Given the description of an element on the screen output the (x, y) to click on. 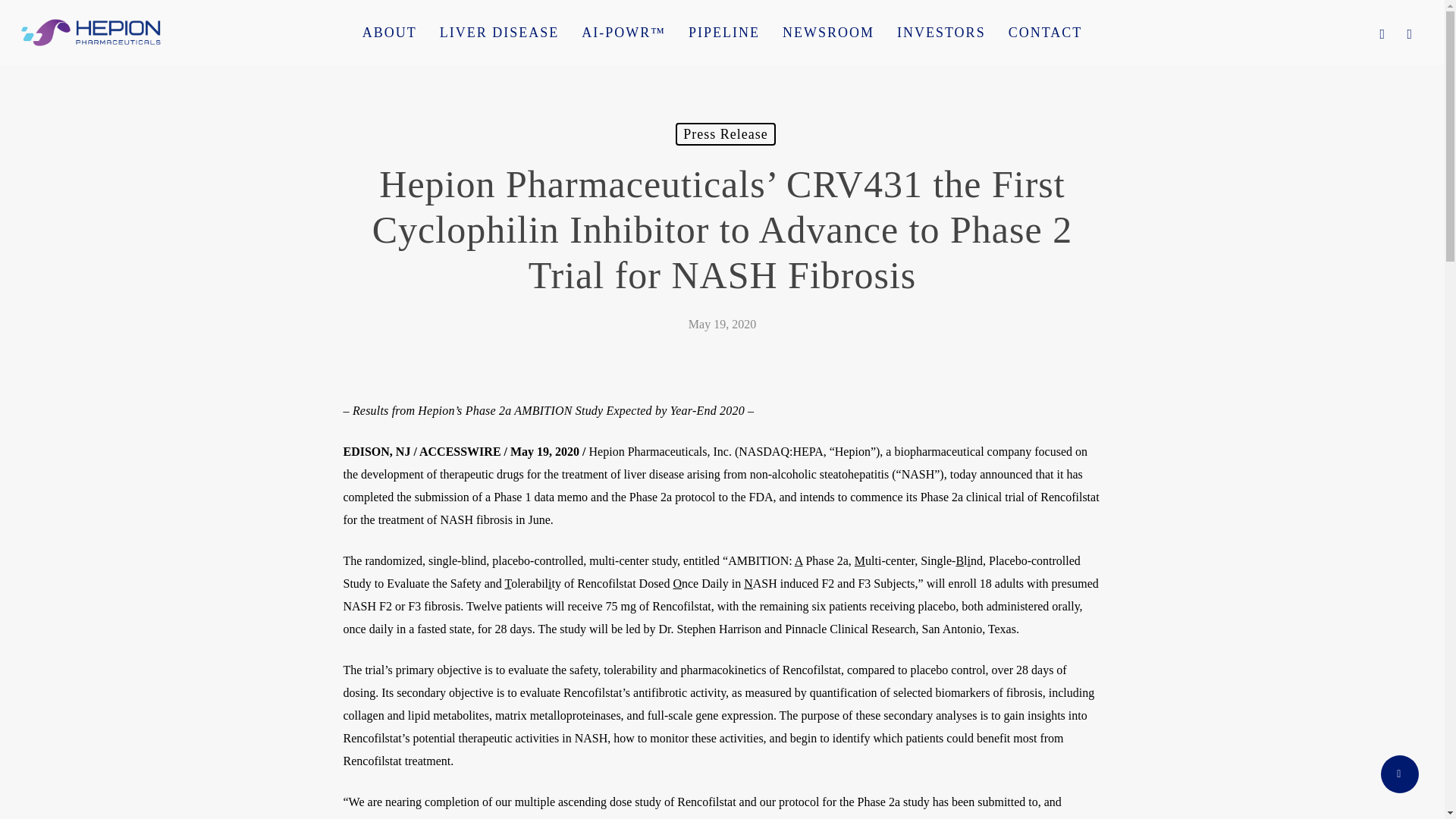
INVESTORS (941, 32)
PIPELINE (724, 32)
LINKEDIN (1409, 32)
Press Release (724, 133)
NEWSROOM (828, 32)
CONTACT (1045, 32)
ABOUT (389, 32)
TWITTER (1382, 32)
LIVER DISEASE (499, 32)
